Given the description of an element on the screen output the (x, y) to click on. 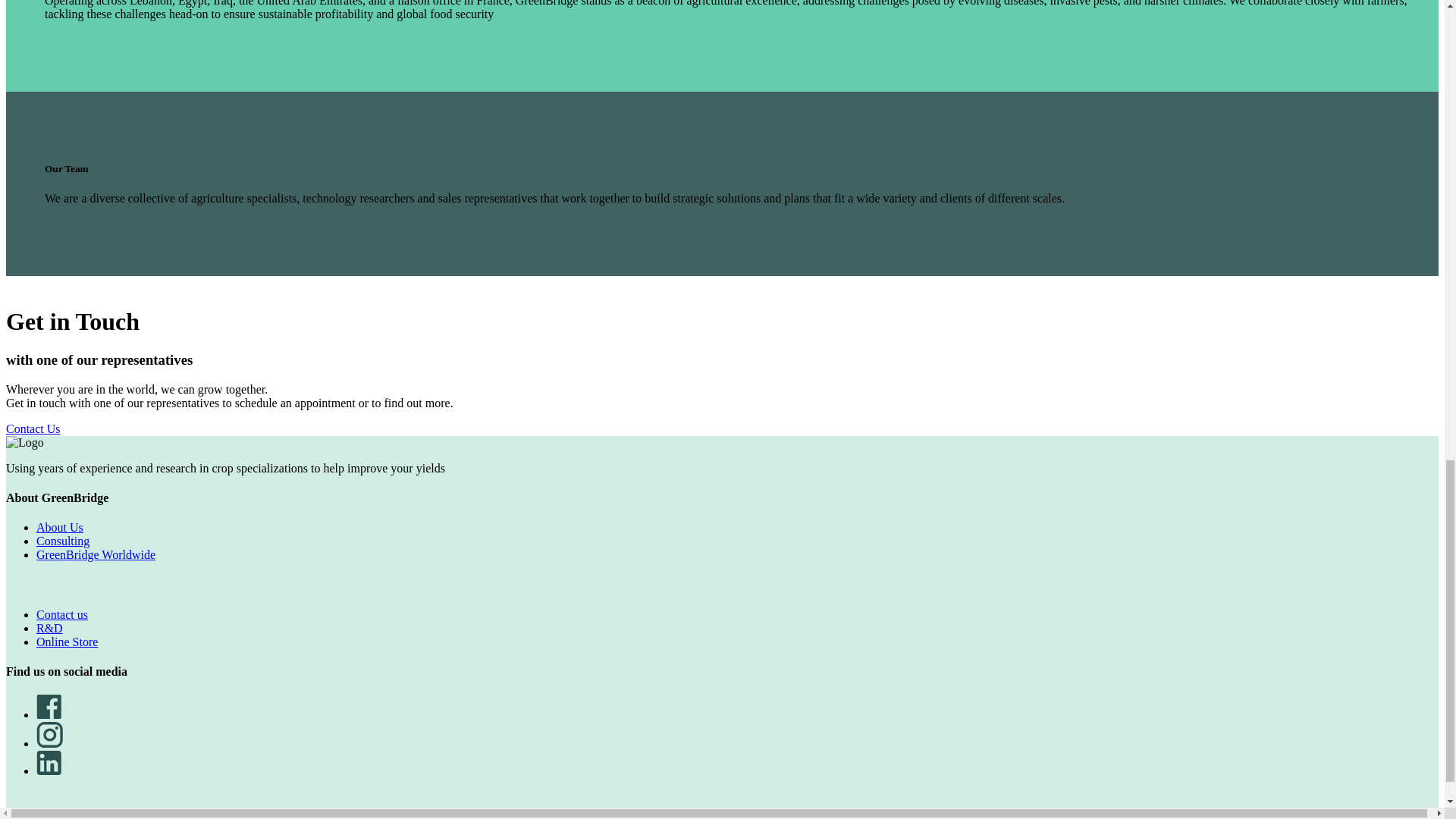
Online Store (66, 641)
About Us (59, 526)
GreenBridge Worldwide (95, 554)
Contact us (61, 614)
Contact Us (33, 428)
Consulting (62, 540)
